Given the description of an element on the screen output the (x, y) to click on. 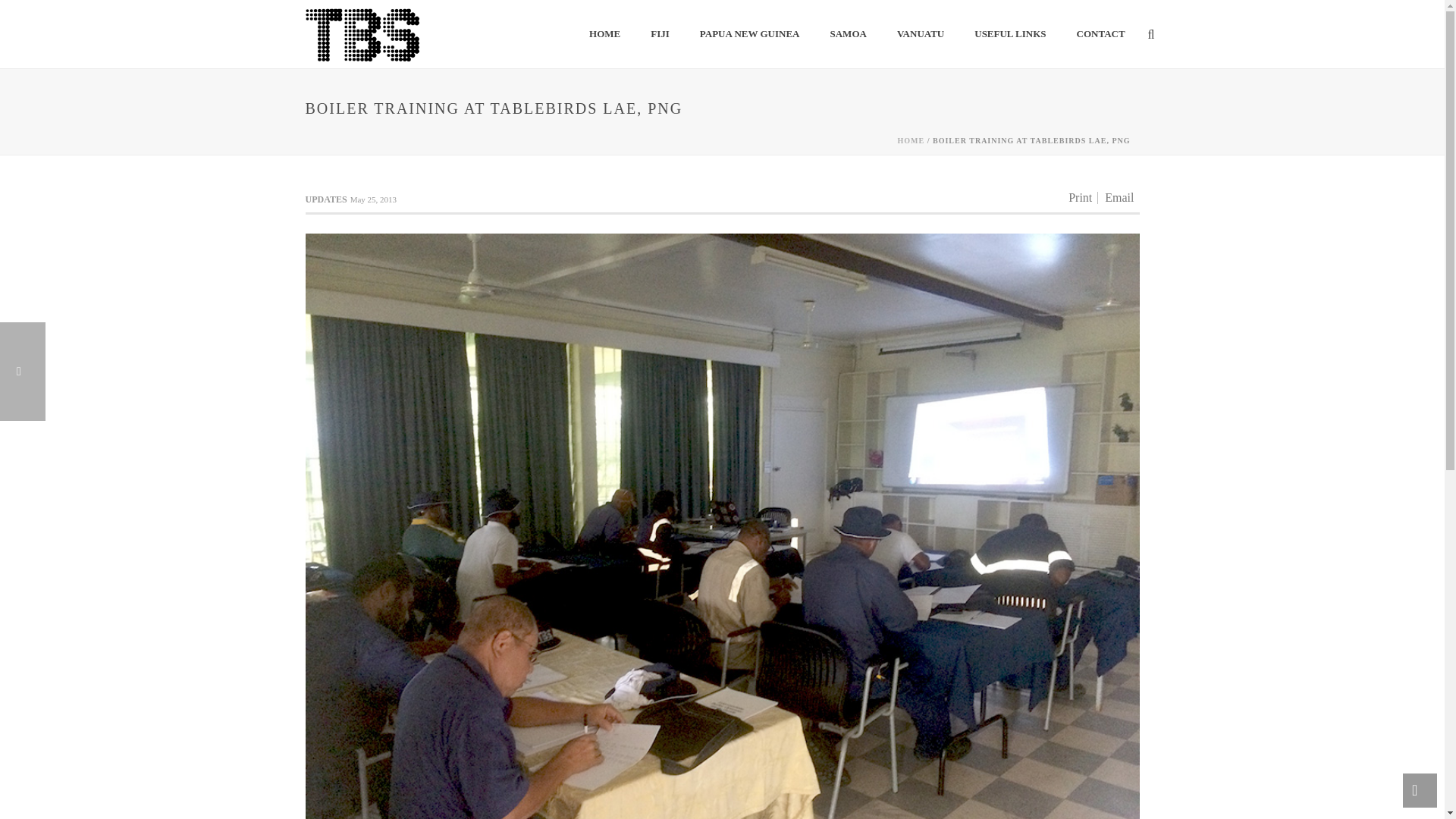
USEFUL LINKS (1010, 34)
VANUATU (920, 34)
HOME (603, 34)
CONTACT (1100, 34)
PAPUA NEW GUINEA (749, 34)
Email (1119, 197)
May 25, 2013 (373, 198)
SAMOA (846, 34)
HOME (911, 140)
FIJI (659, 34)
Print (1080, 197)
